Given the description of an element on the screen output the (x, y) to click on. 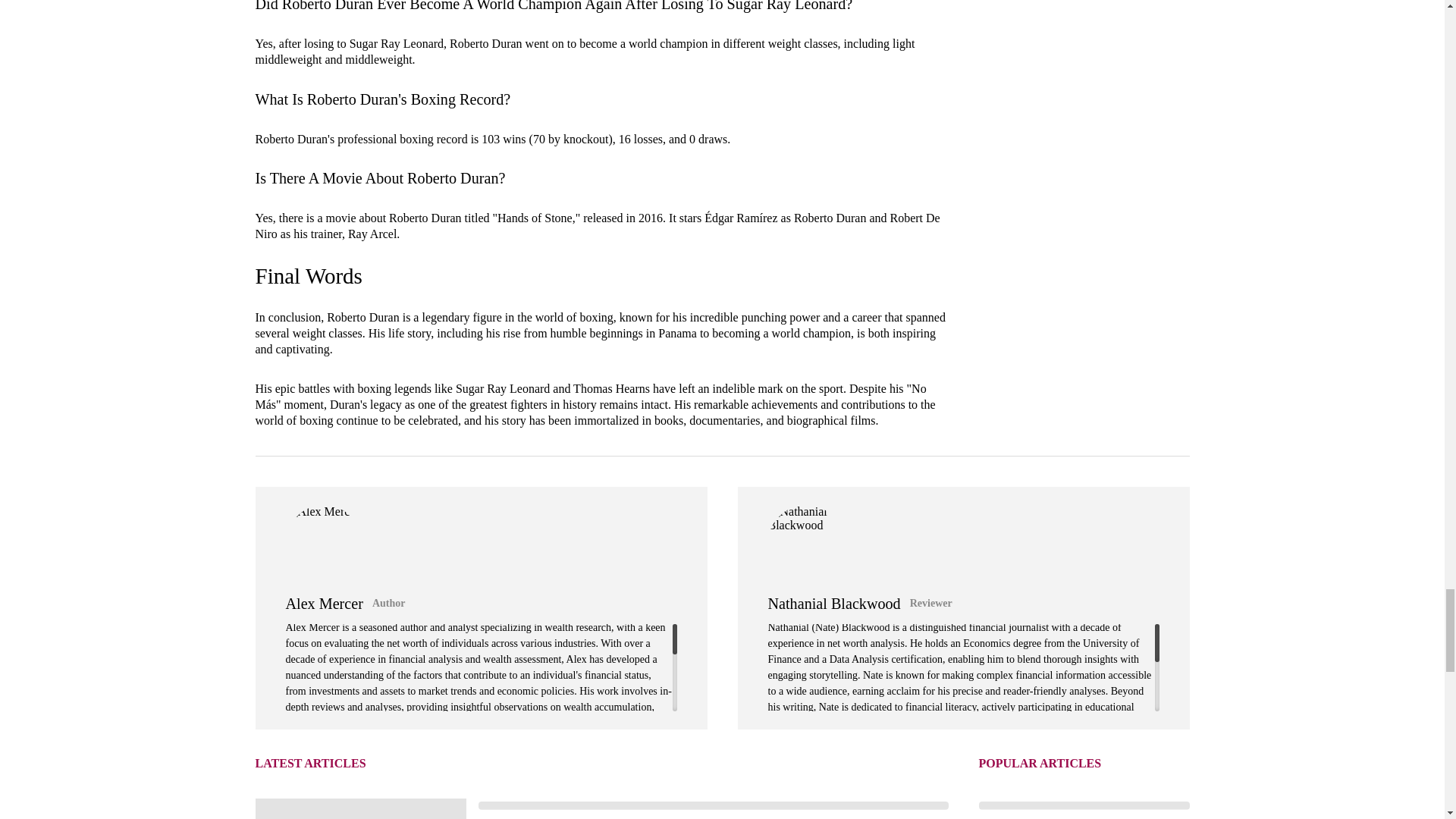
Final Words (307, 275)
What Is Roberto Duran's Boxing Record? (382, 98)
Is There A Movie About Roberto Duran? (379, 177)
